Given the description of an element on the screen output the (x, y) to click on. 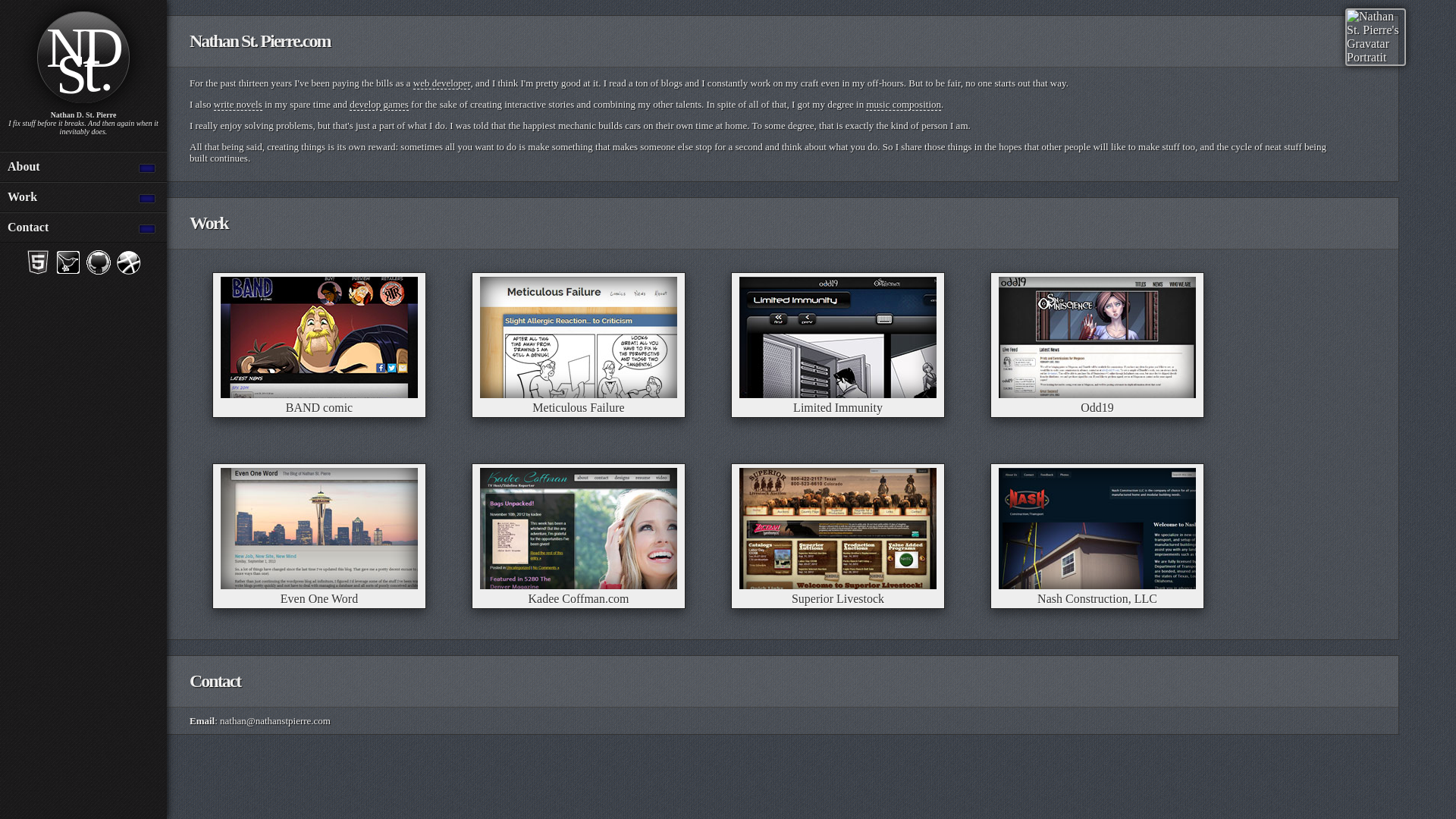
About (87, 166)
Contact (87, 226)
Work (87, 196)
